Given the description of an element on the screen output the (x, y) to click on. 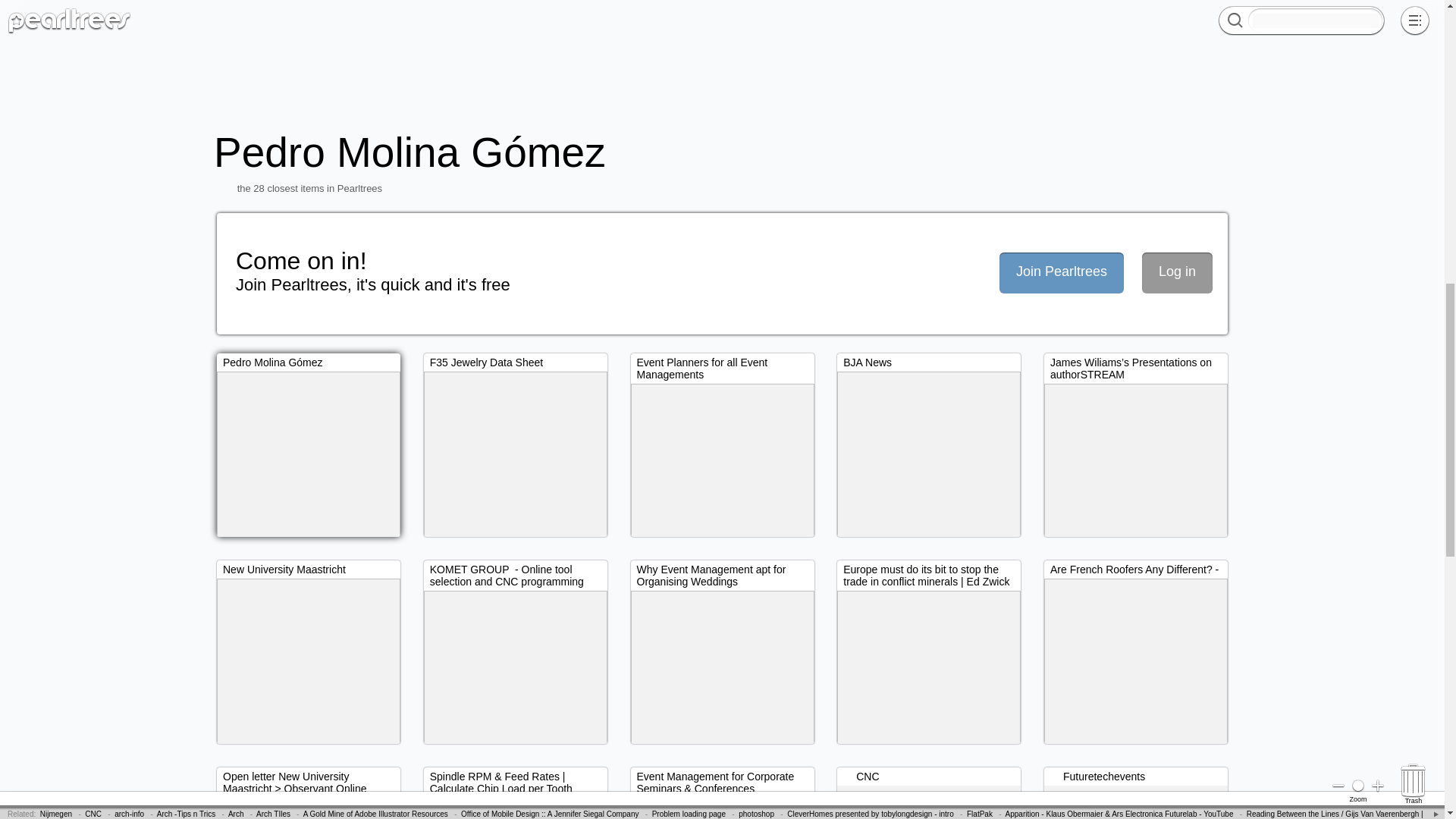
The platform for architecture and design (991, 8)
NONOTAK studio (82, 8)
